Given the description of an element on the screen output the (x, y) to click on. 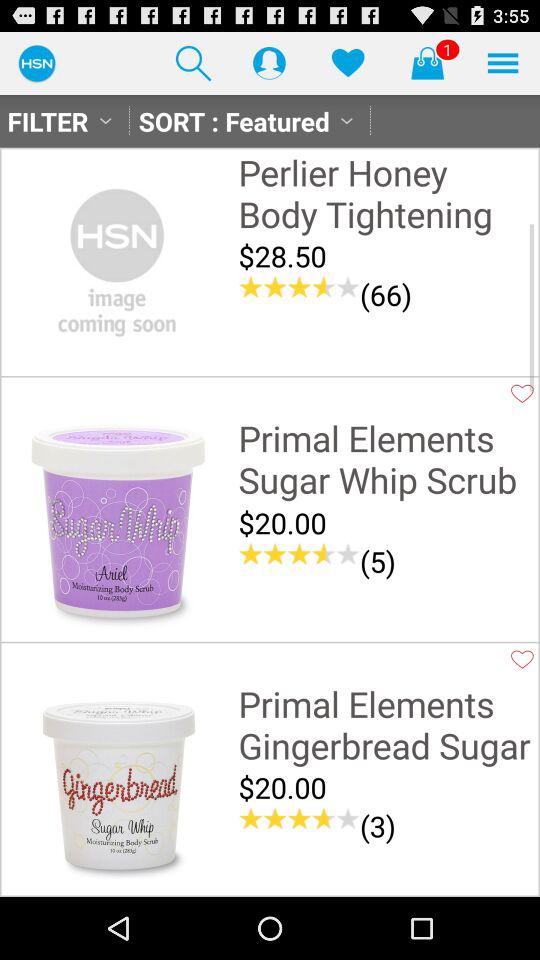
add to favorites (522, 393)
